Given the description of an element on the screen output the (x, y) to click on. 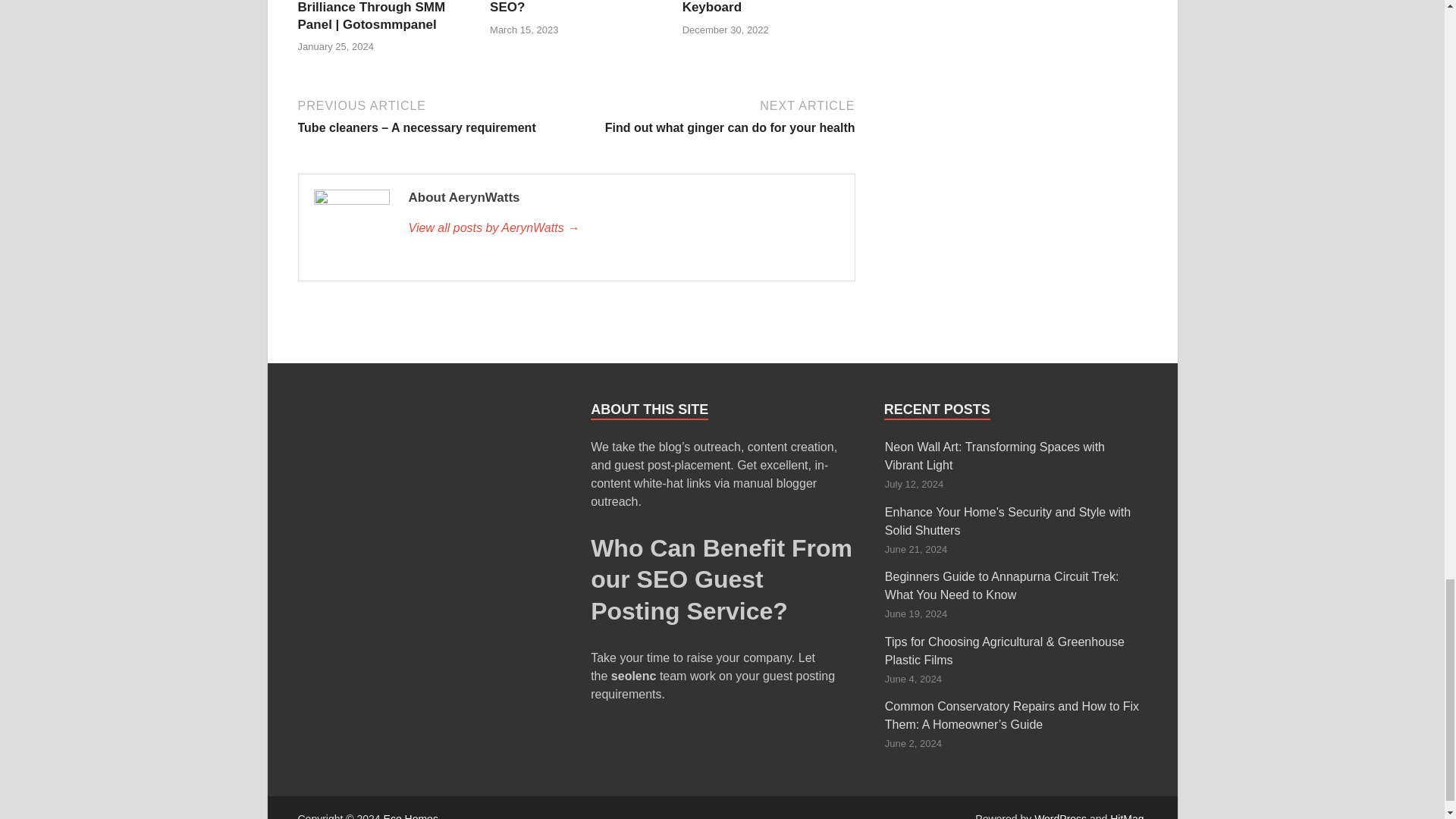
AerynWatts (622, 228)
How to Test Mechanical Keyboard (754, 7)
what are 5 of Benefit of SEO? (560, 7)
